Given the description of an element on the screen output the (x, y) to click on. 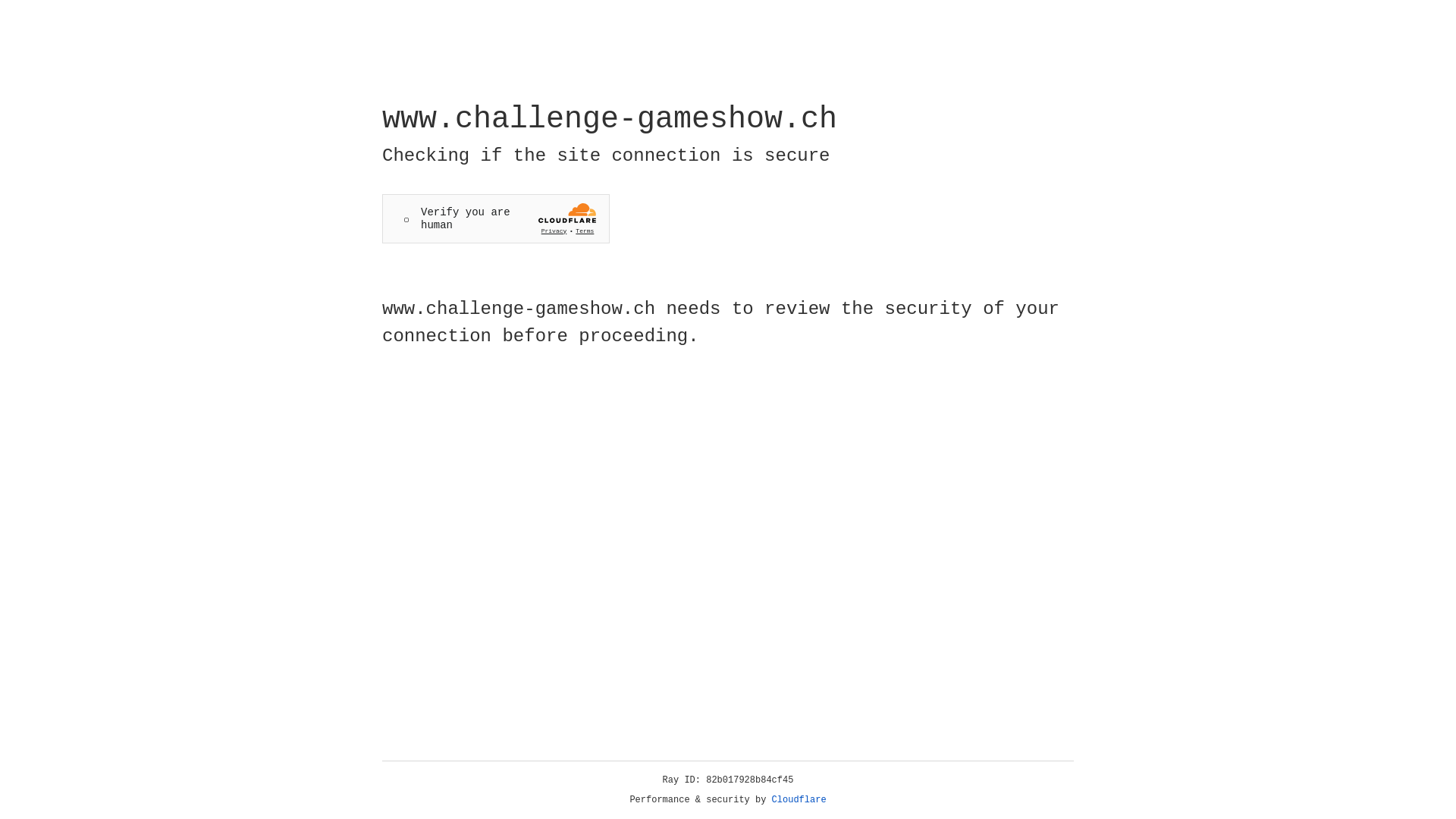
Widget containing a Cloudflare security challenge Element type: hover (495, 218)
Cloudflare Element type: text (798, 799)
